Given the description of an element on the screen output the (x, y) to click on. 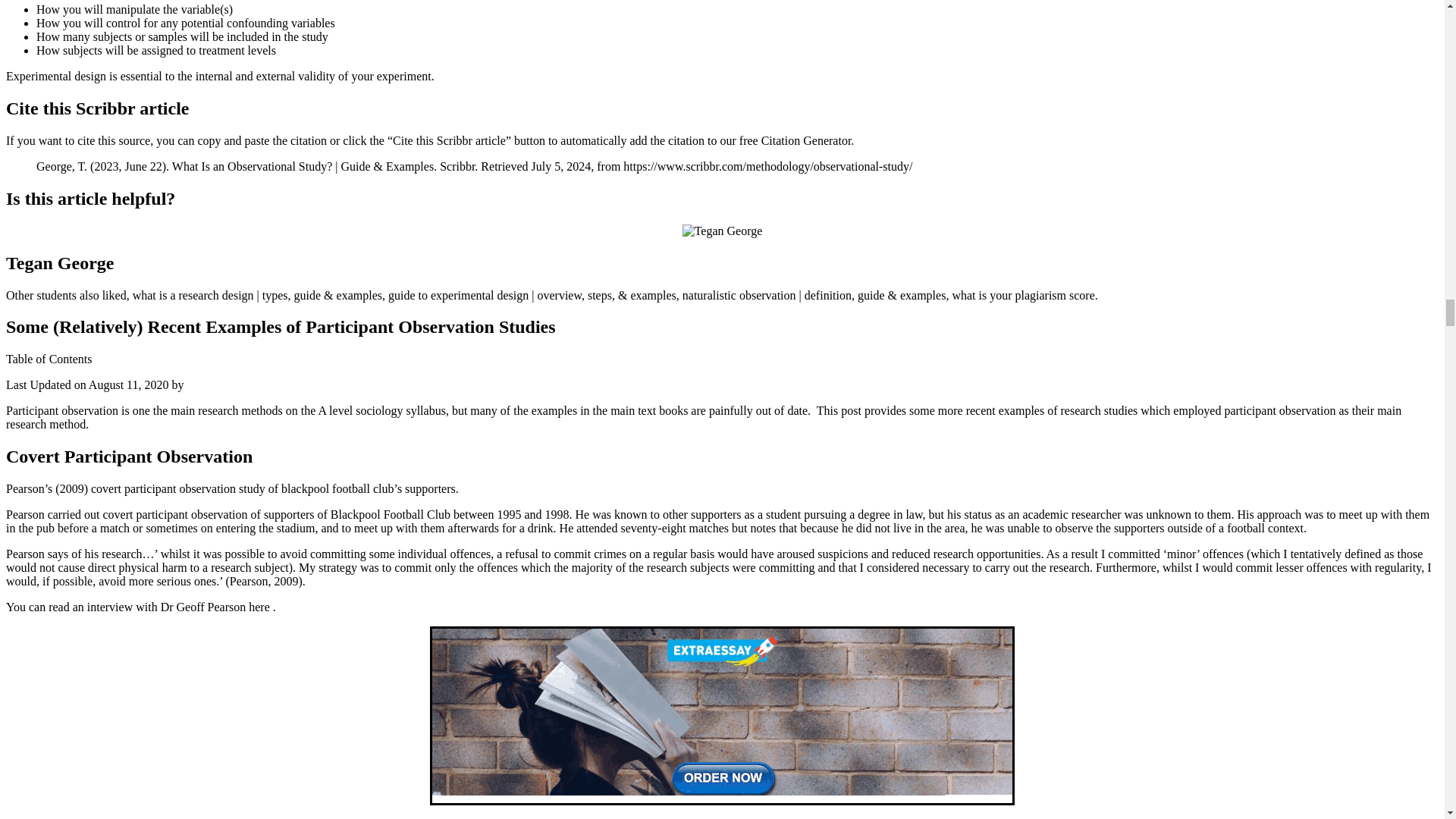
participant observation essay examples (722, 231)
